Given the description of an element on the screen output the (x, y) to click on. 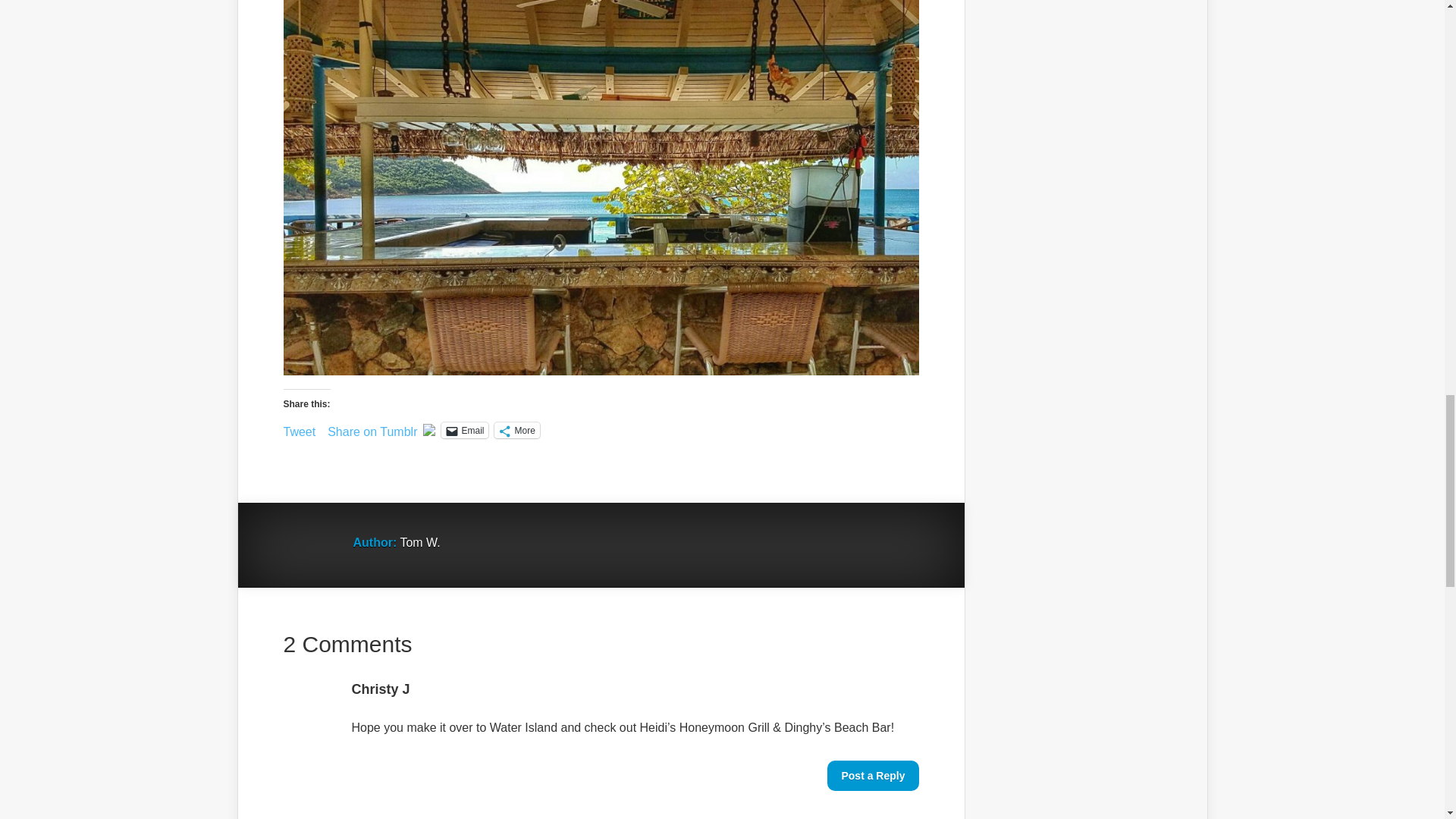
Share on Tumblr (371, 428)
Email (464, 430)
More (516, 430)
Tweet (299, 428)
Click to email a link to a friend (464, 430)
Share on Tumblr (371, 428)
